Given the description of an element on the screen output the (x, y) to click on. 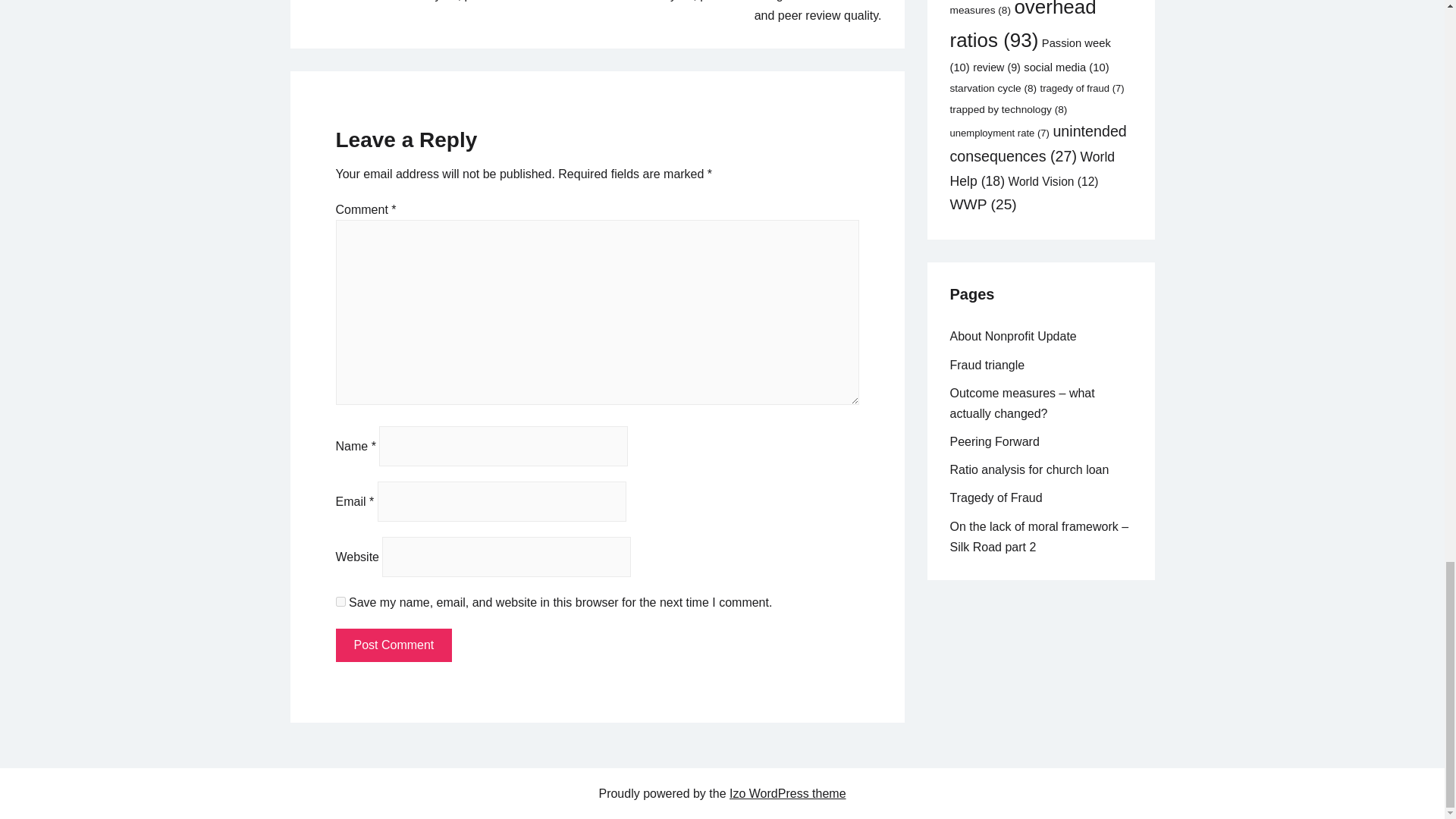
yes (339, 601)
Post Comment (392, 644)
Post Comment (392, 644)
